Given the description of an element on the screen output the (x, y) to click on. 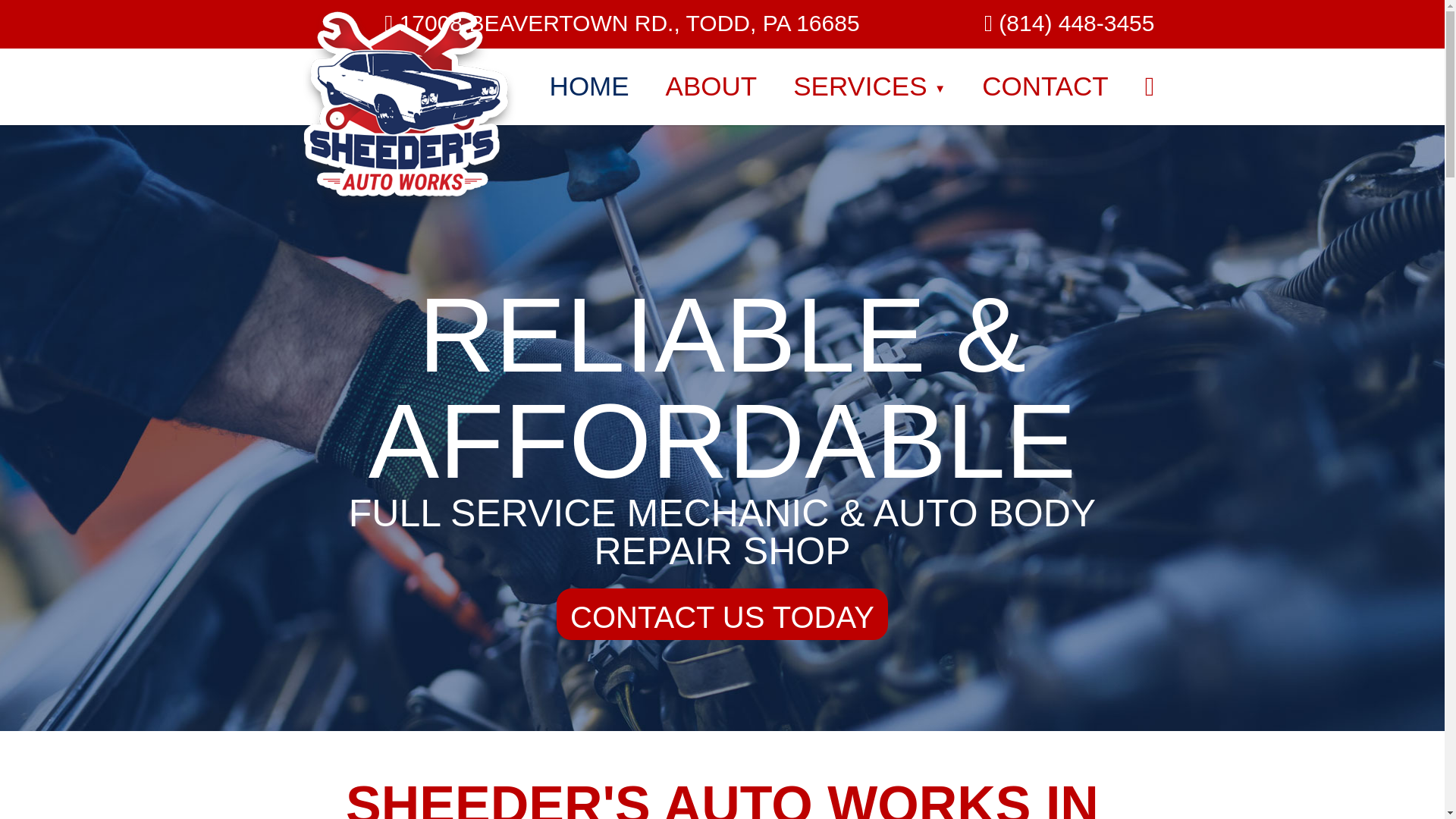
ABOUT (711, 86)
CONTACT (1044, 86)
CONTACT US TODAY (722, 613)
HOME (589, 86)
